Given the description of an element on the screen output the (x, y) to click on. 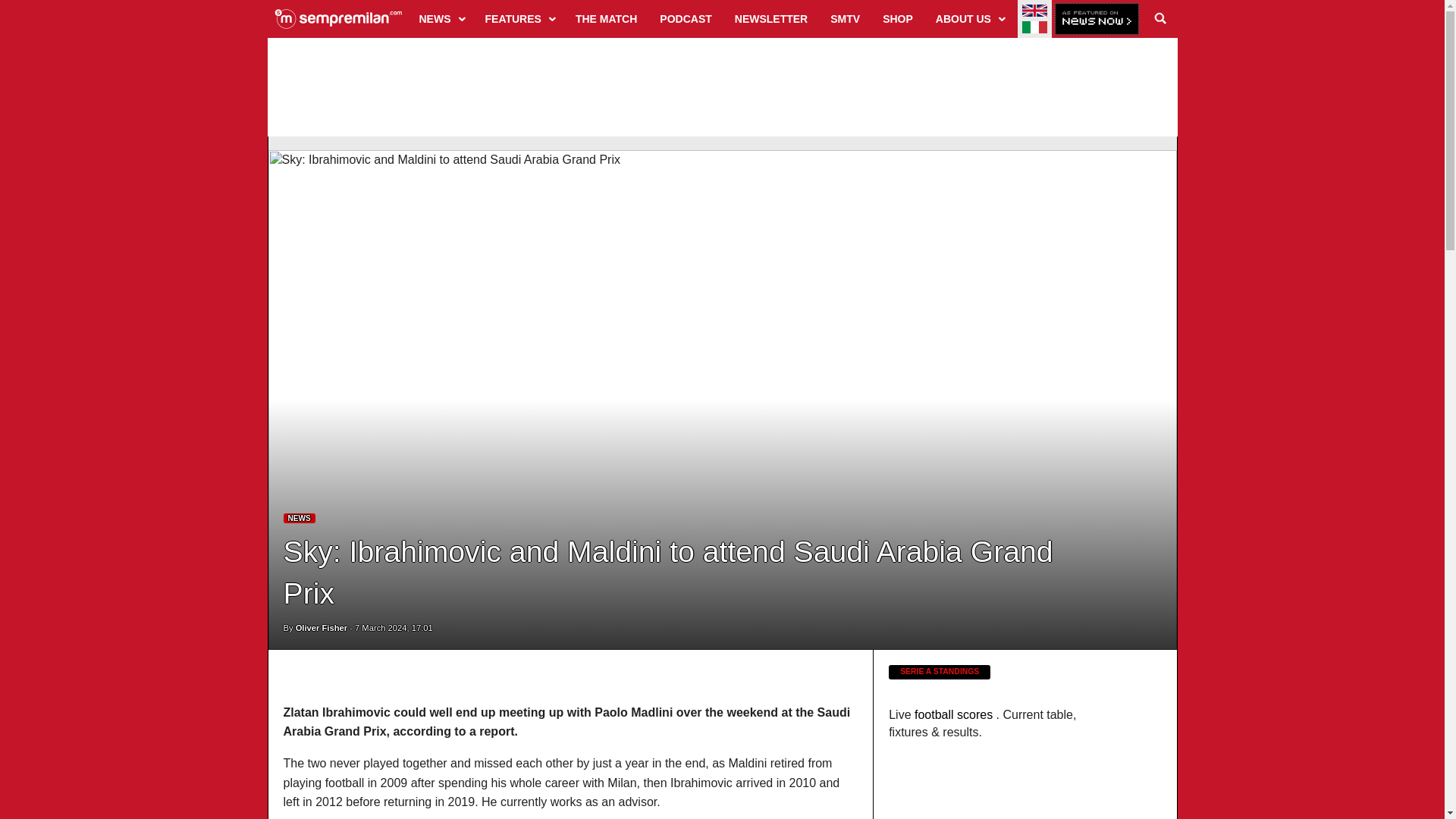
ABOUT US (968, 18)
NEWS (440, 18)
PODCAST (684, 18)
Search (1160, 18)
NEWSLETTER (770, 18)
HOME (338, 18)
Click here for more AC Milan news from NewsNow (1096, 19)
FEATURES (518, 18)
THE MATCH (605, 18)
Latest News News (299, 518)
